Given the description of an element on the screen output the (x, y) to click on. 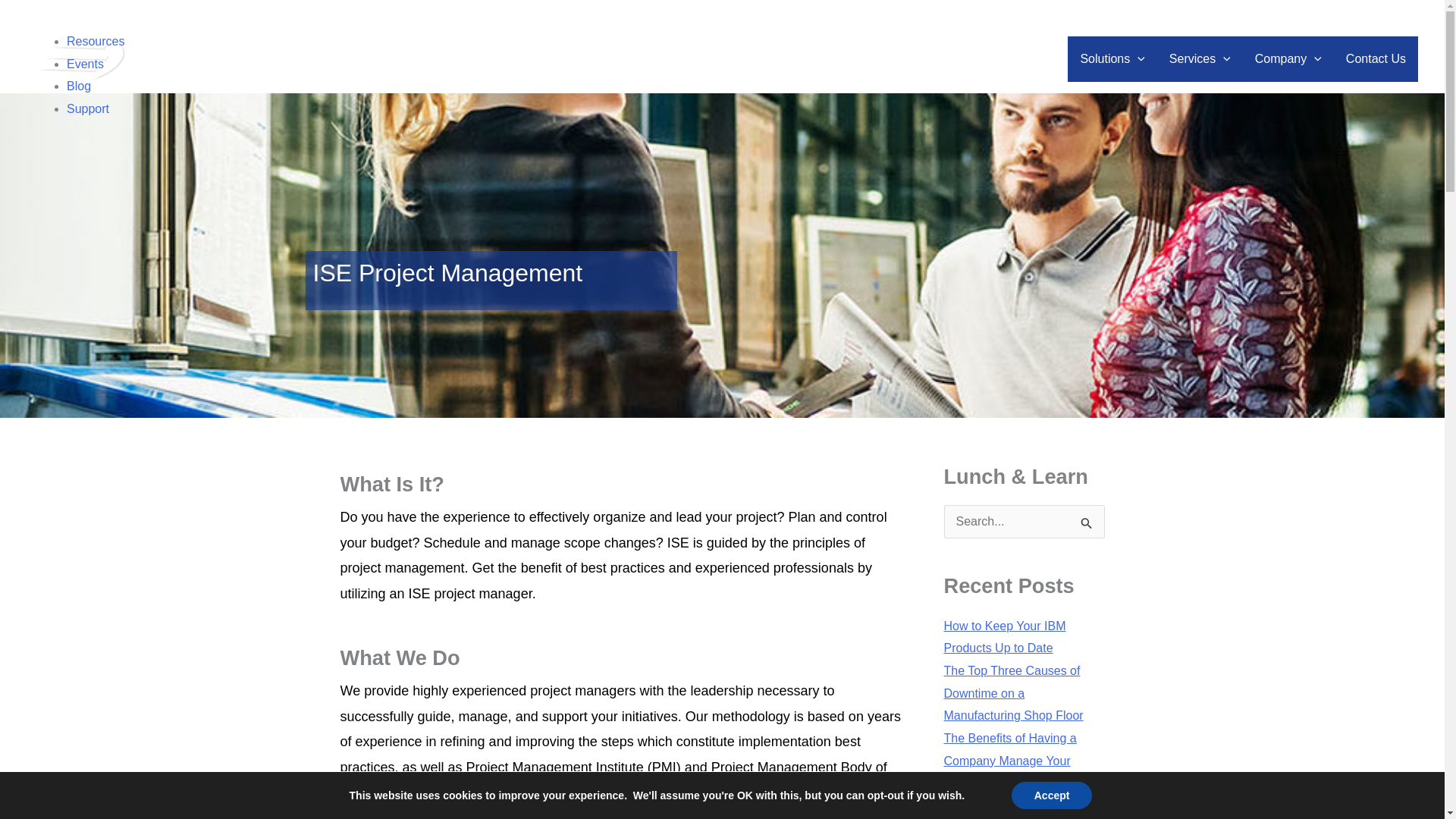
Company (1288, 58)
Services (1200, 58)
Support (87, 108)
Resources (94, 41)
Events (84, 63)
Solutions (1111, 58)
Blog (78, 85)
